Given the description of an element on the screen output the (x, y) to click on. 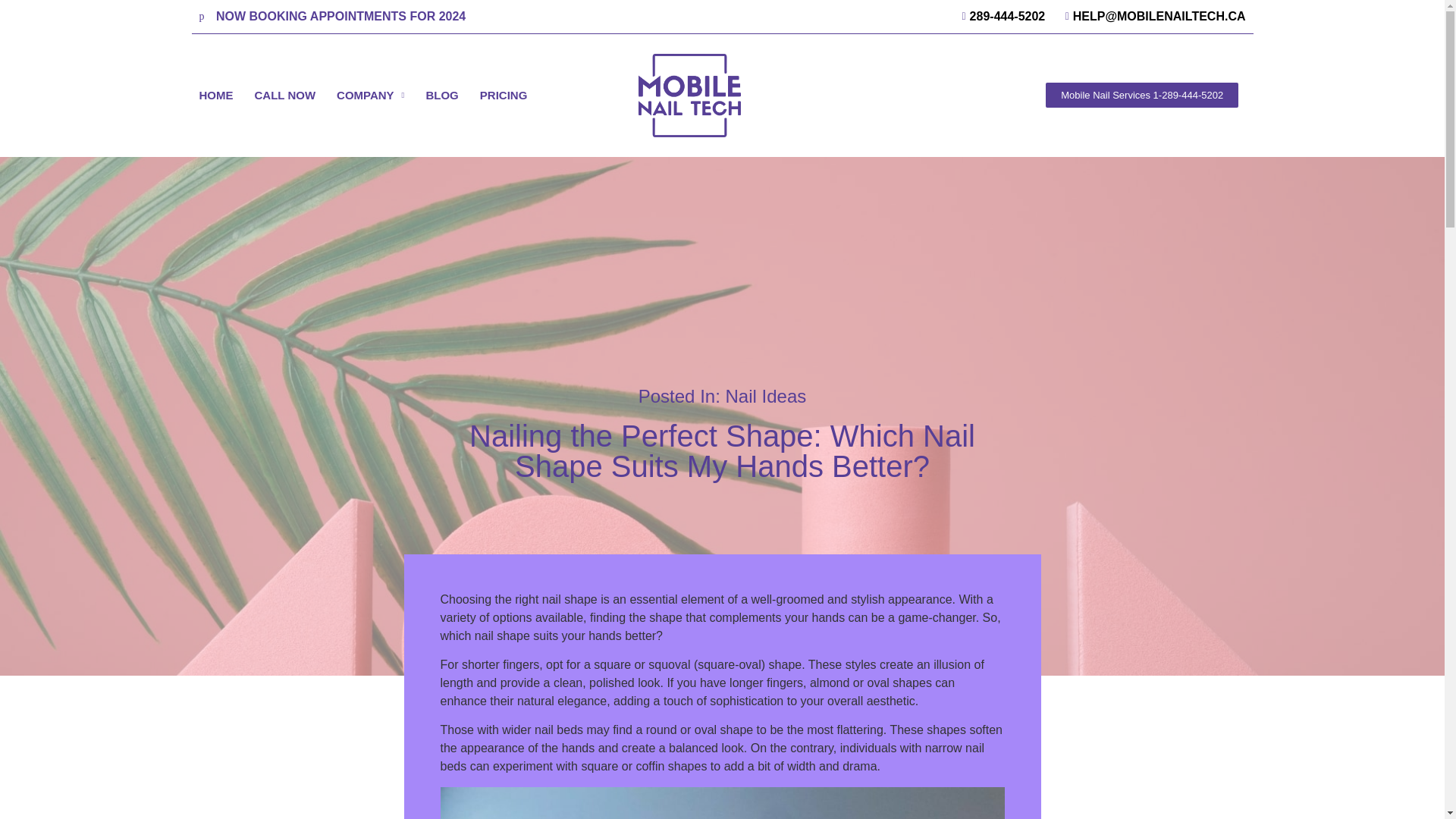
Mobile Nail Services 1-289-444-5202 (1142, 94)
CALL NOW (284, 95)
BLOG (441, 95)
COMPANY (370, 95)
289-444-5202 (998, 16)
PRICING (503, 95)
Nail Ideas (765, 395)
HOME (215, 95)
